Given the description of an element on the screen output the (x, y) to click on. 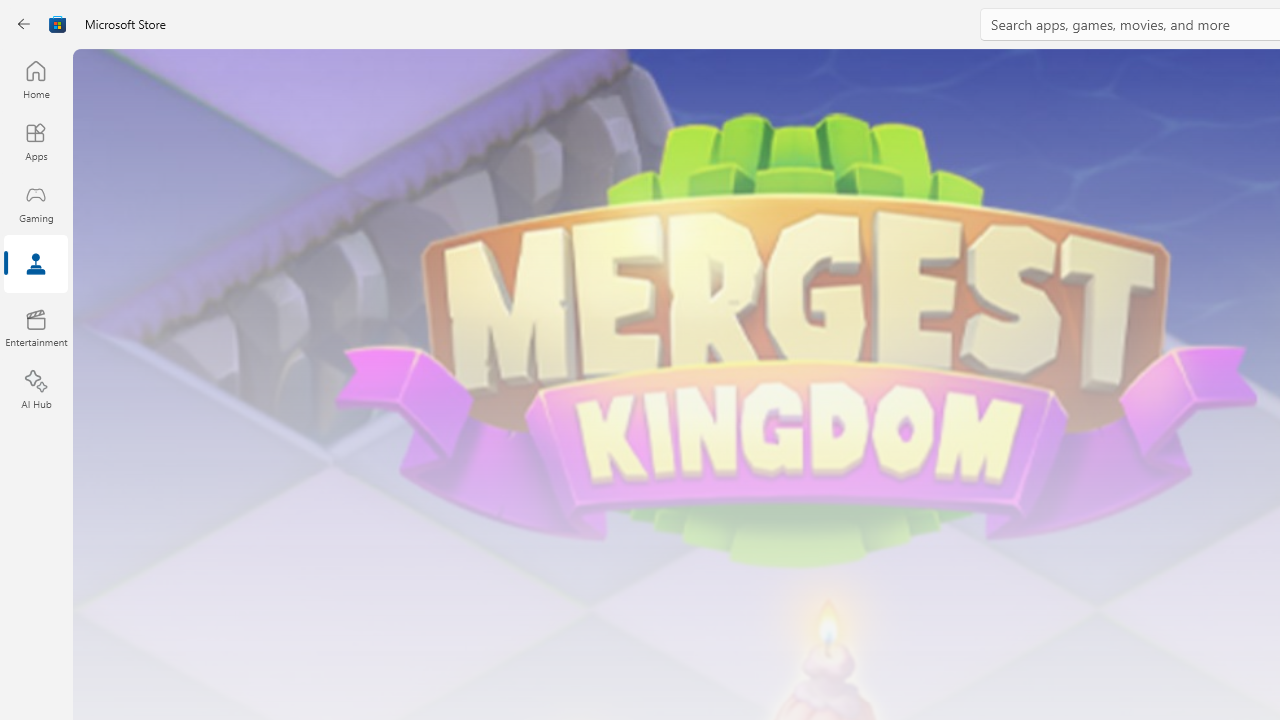
Back (24, 24)
